Given the description of an element on the screen output the (x, y) to click on. 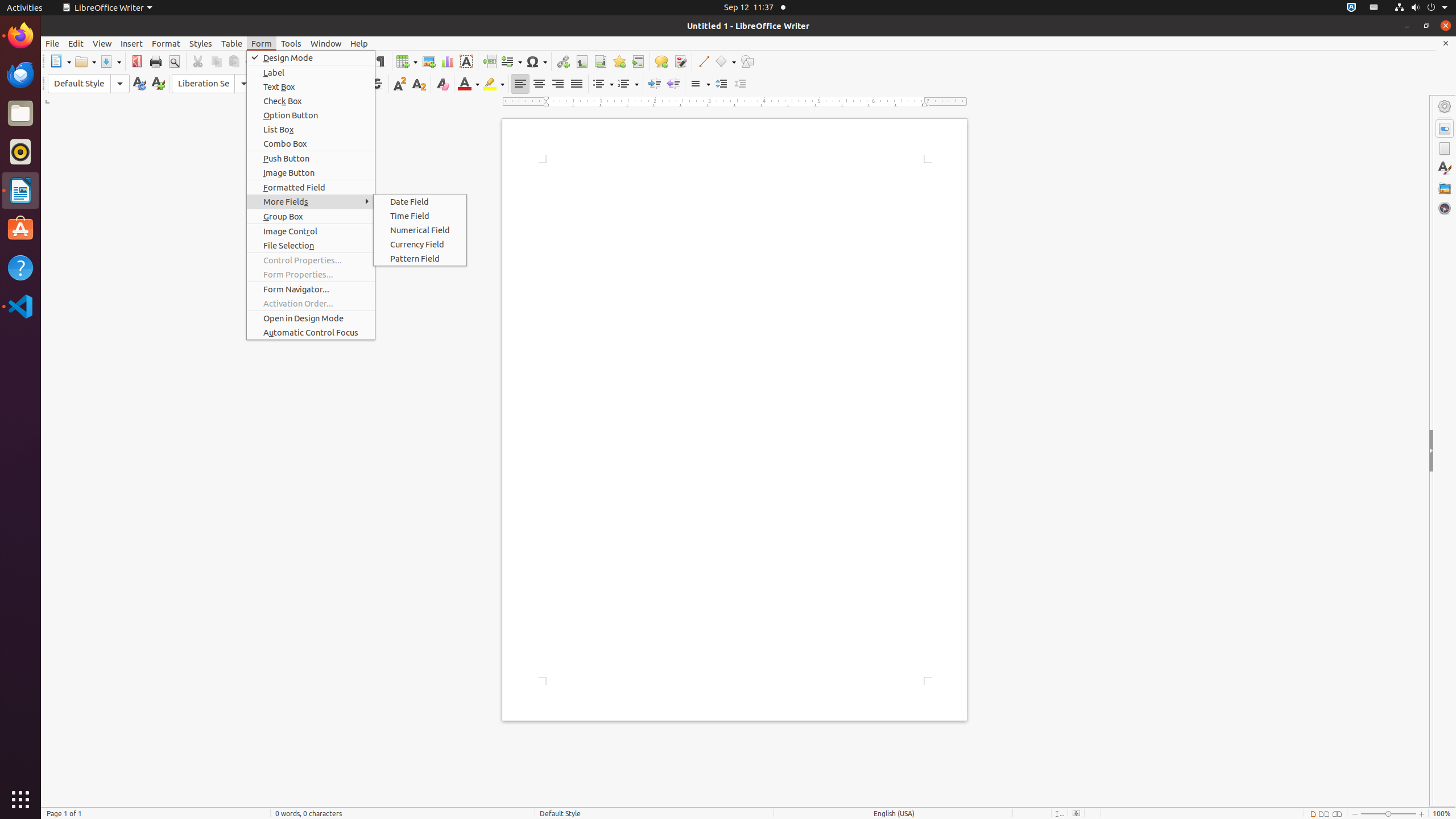
Styles Element type: menu (200, 43)
Edit Element type: menu (75, 43)
Label Element type: check-menu-item (310, 72)
Activation Order... Element type: menu-item (310, 303)
Comment Element type: push-button (660, 61)
